Given the description of an element on the screen output the (x, y) to click on. 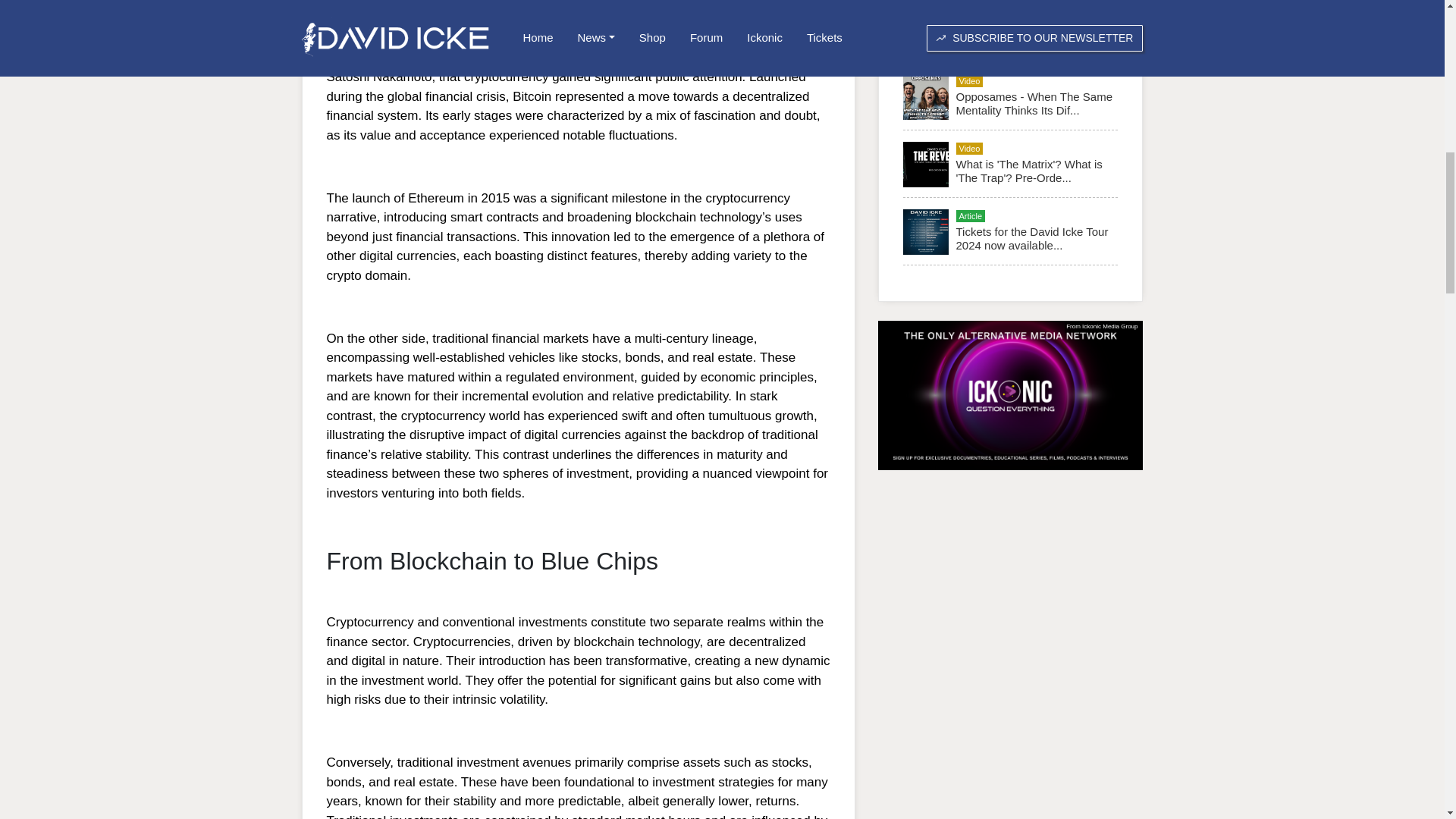
Is Two Tier Policing A Myth? - David Icke (1029, 35)
